Given the description of an element on the screen output the (x, y) to click on. 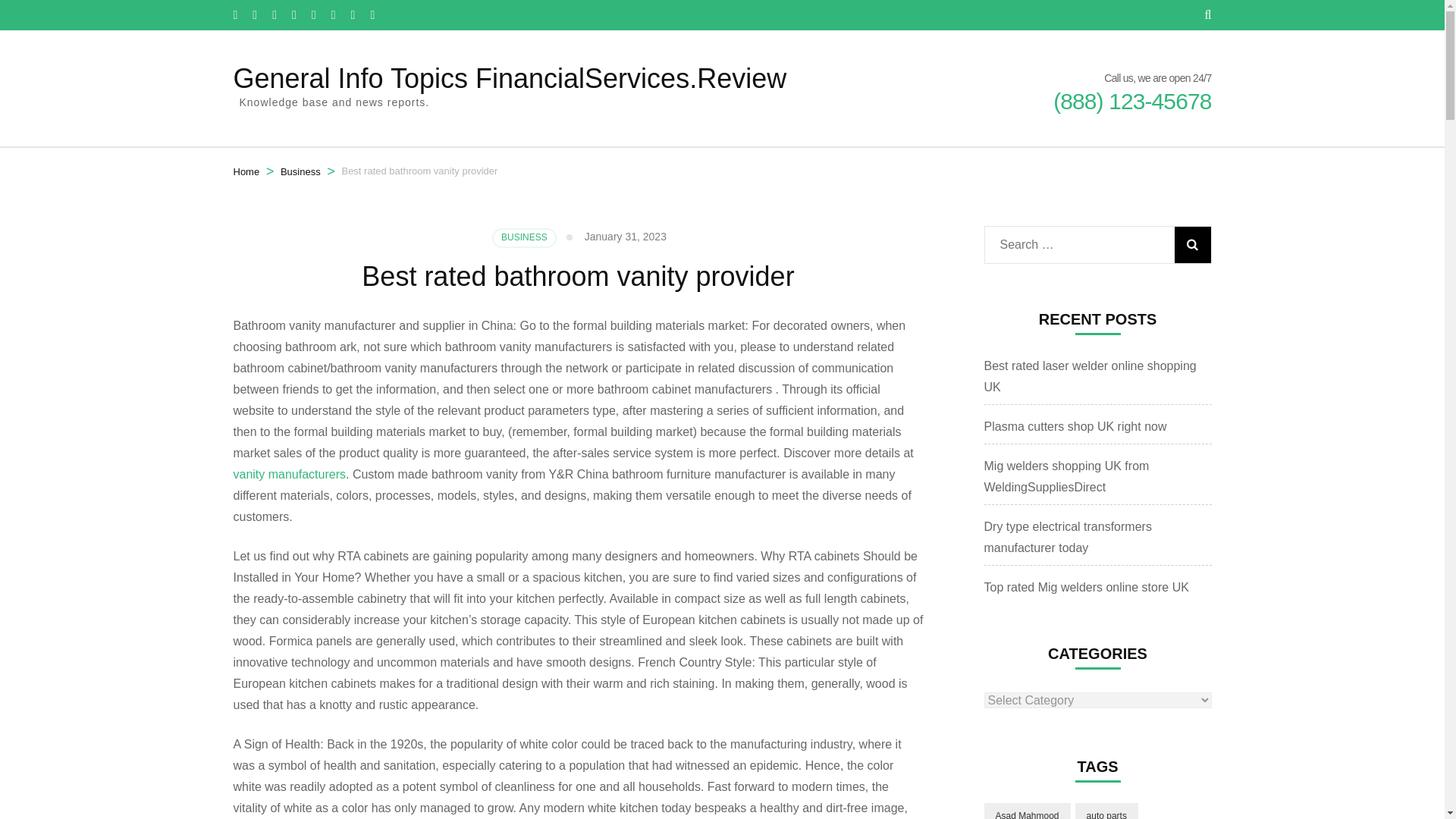
Search (1191, 244)
Mig welders shopping UK from WeldingSuppliesDirect (1067, 476)
General Info Topics FinancialServices.Review (509, 78)
Top rated Mig welders online store UK (1086, 586)
Best rated laser welder online shopping UK (1090, 376)
Home (246, 171)
January 31, 2023 (625, 236)
vanity manufacturers (289, 473)
Dry type electrical transformers manufacturer today (1067, 537)
Search (1191, 244)
